Given the description of an element on the screen output the (x, y) to click on. 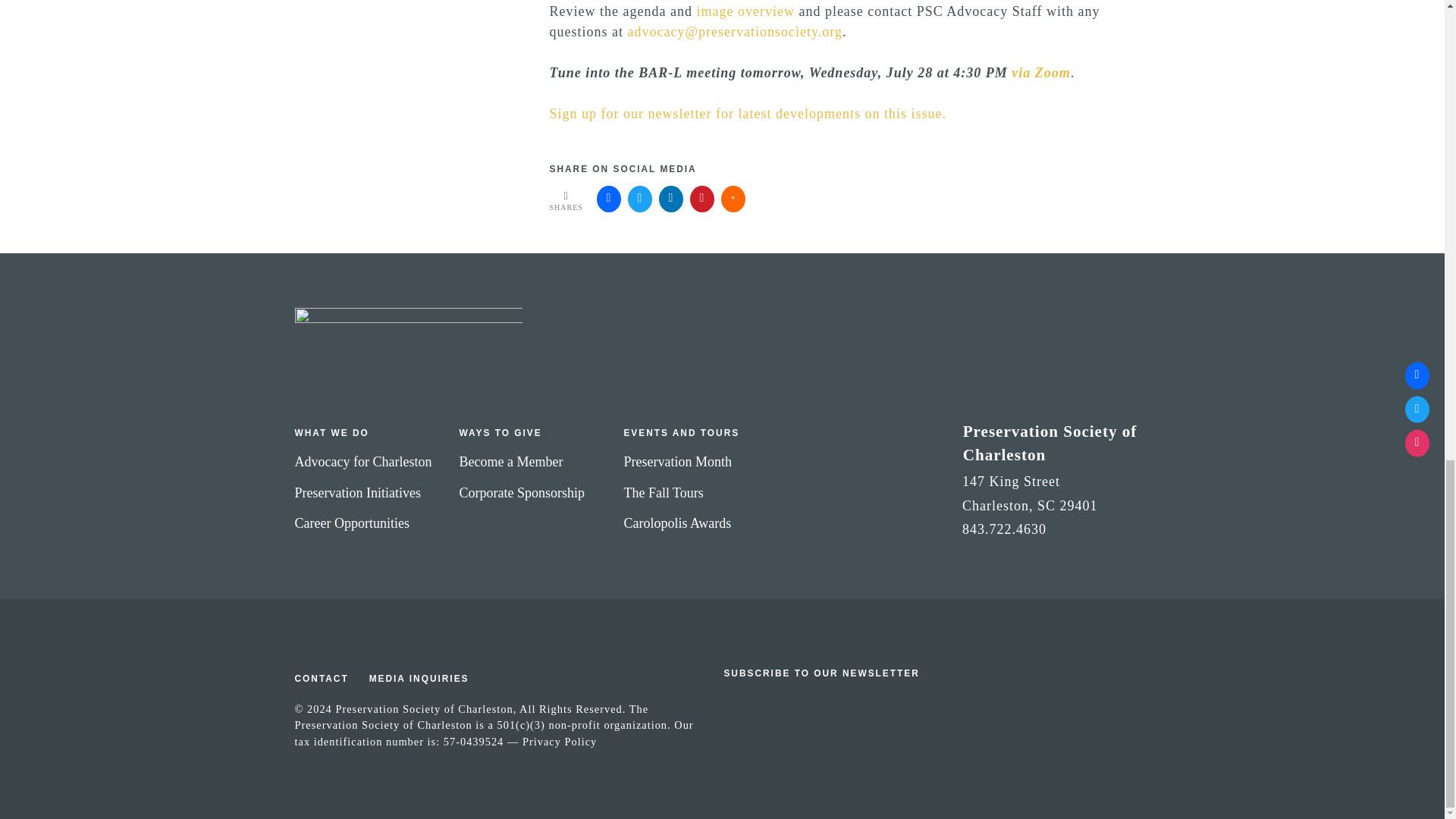
Add this to LinkedIn (670, 198)
More share links (732, 198)
